Given the description of an element on the screen output the (x, y) to click on. 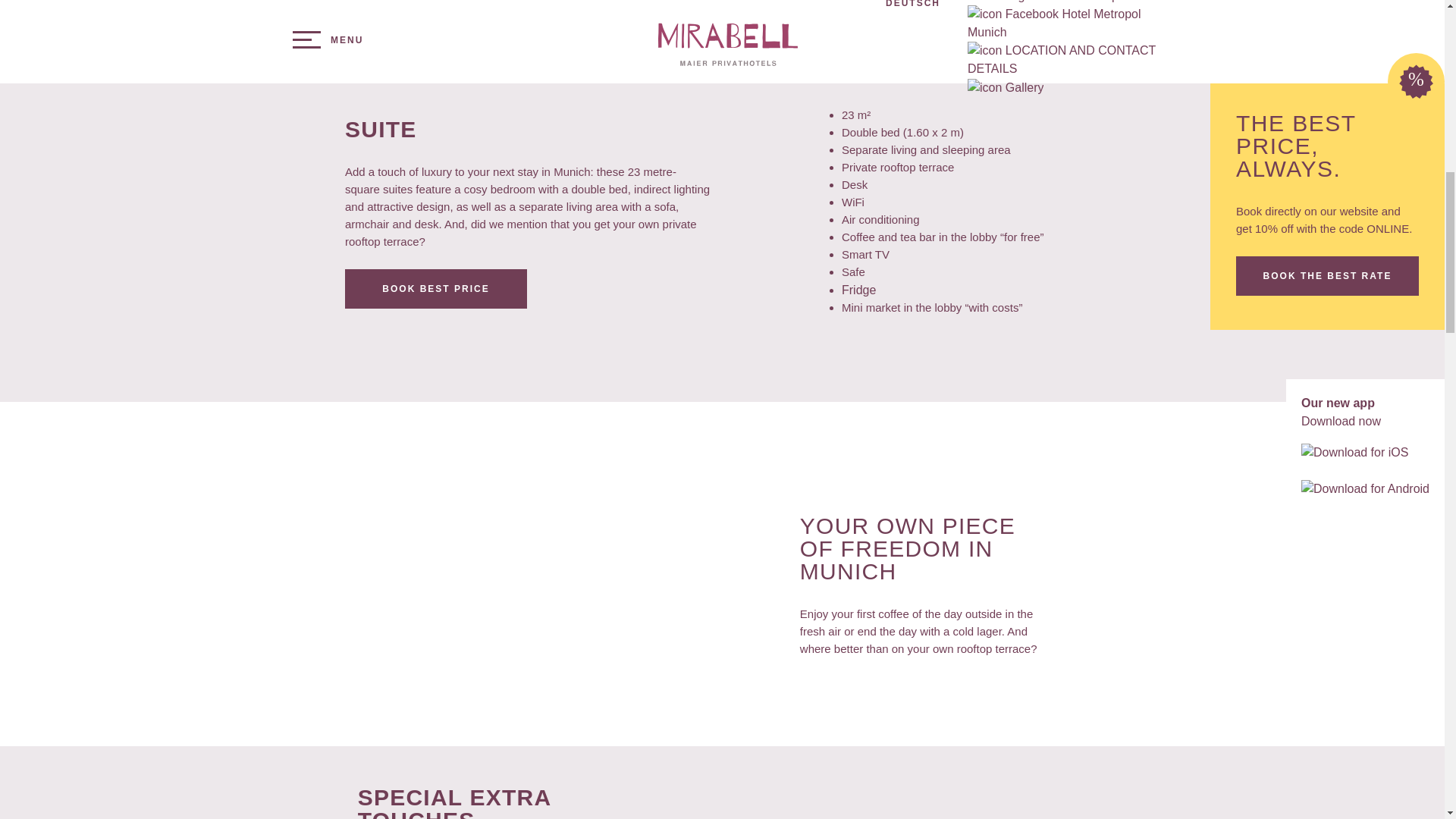
Book best price (1060, 779)
Departure (722, 779)
Book best price (436, 288)
Arrival (574, 779)
BOOK BEST PRICE (436, 288)
